Given the description of an element on the screen output the (x, y) to click on. 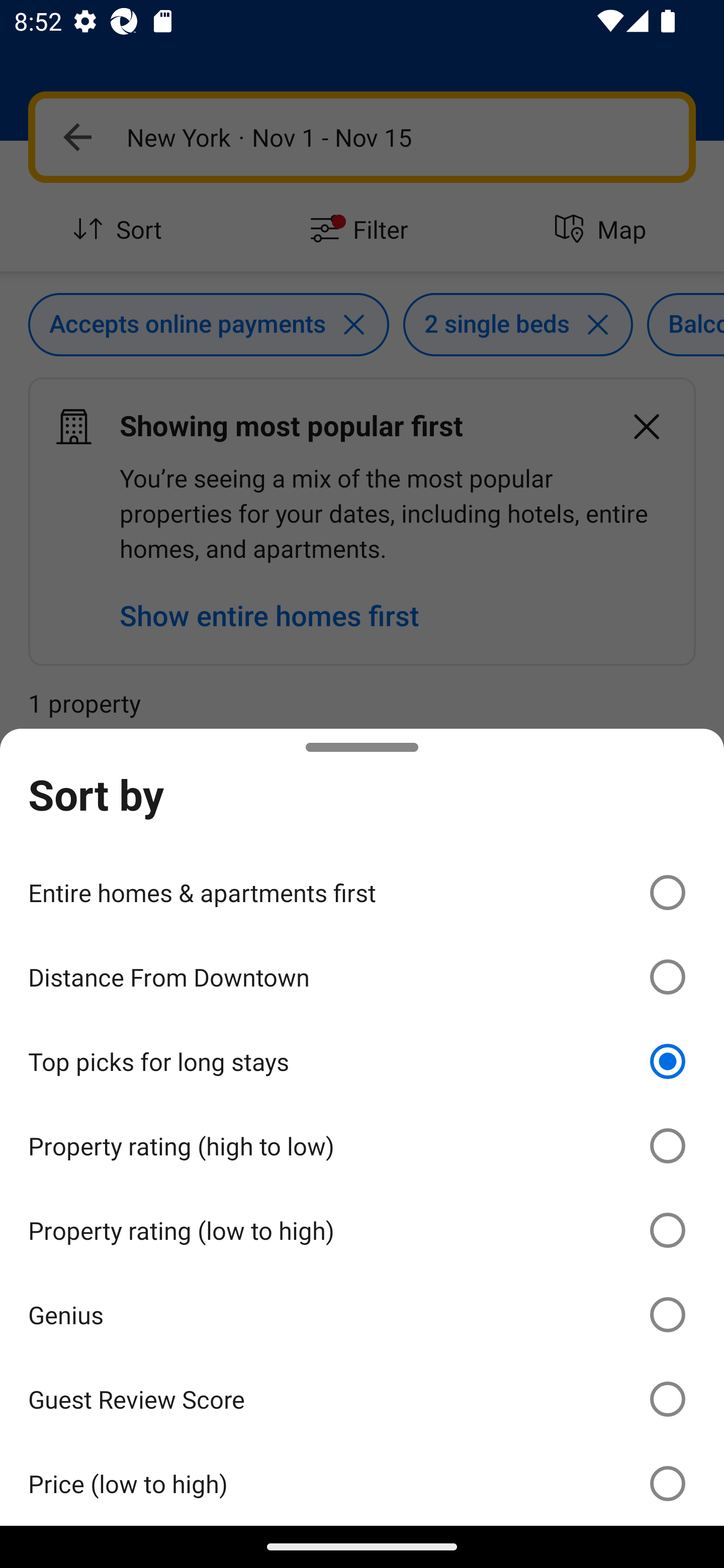
Entire homes & apartments first (362, 891)
Distance From Downtown (362, 976)
Top picks for long stays (362, 1061)
Property rating (high to low) (362, 1145)
Property rating (low to high) (362, 1230)
Genius (362, 1314)
Guest Review Score (362, 1398)
Price (low to high) (362, 1482)
